Given the description of an element on the screen output the (x, y) to click on. 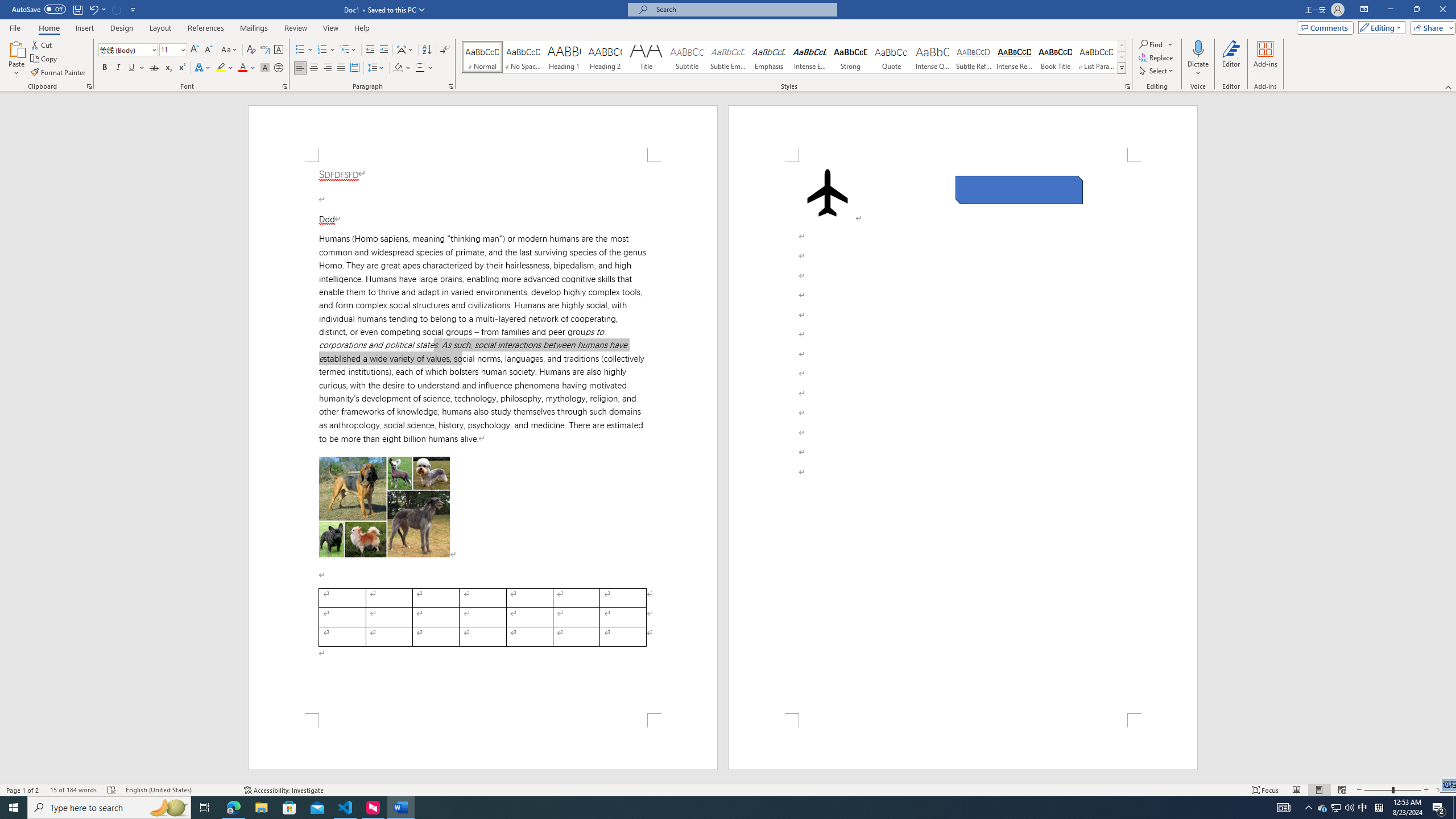
Editor (1231, 58)
Title (646, 56)
Subtle Emphasis (727, 56)
AutoSave (38, 9)
Quick Access Toolbar (74, 9)
Page 2 content (963, 437)
Strikethrough (154, 67)
Copy (45, 58)
References (205, 28)
Comments (1325, 27)
Subtle Reference (973, 56)
Intense Reference (1014, 56)
Read Mode (1296, 790)
Row Down (1121, 56)
Print Layout (1318, 790)
